Given the description of an element on the screen output the (x, y) to click on. 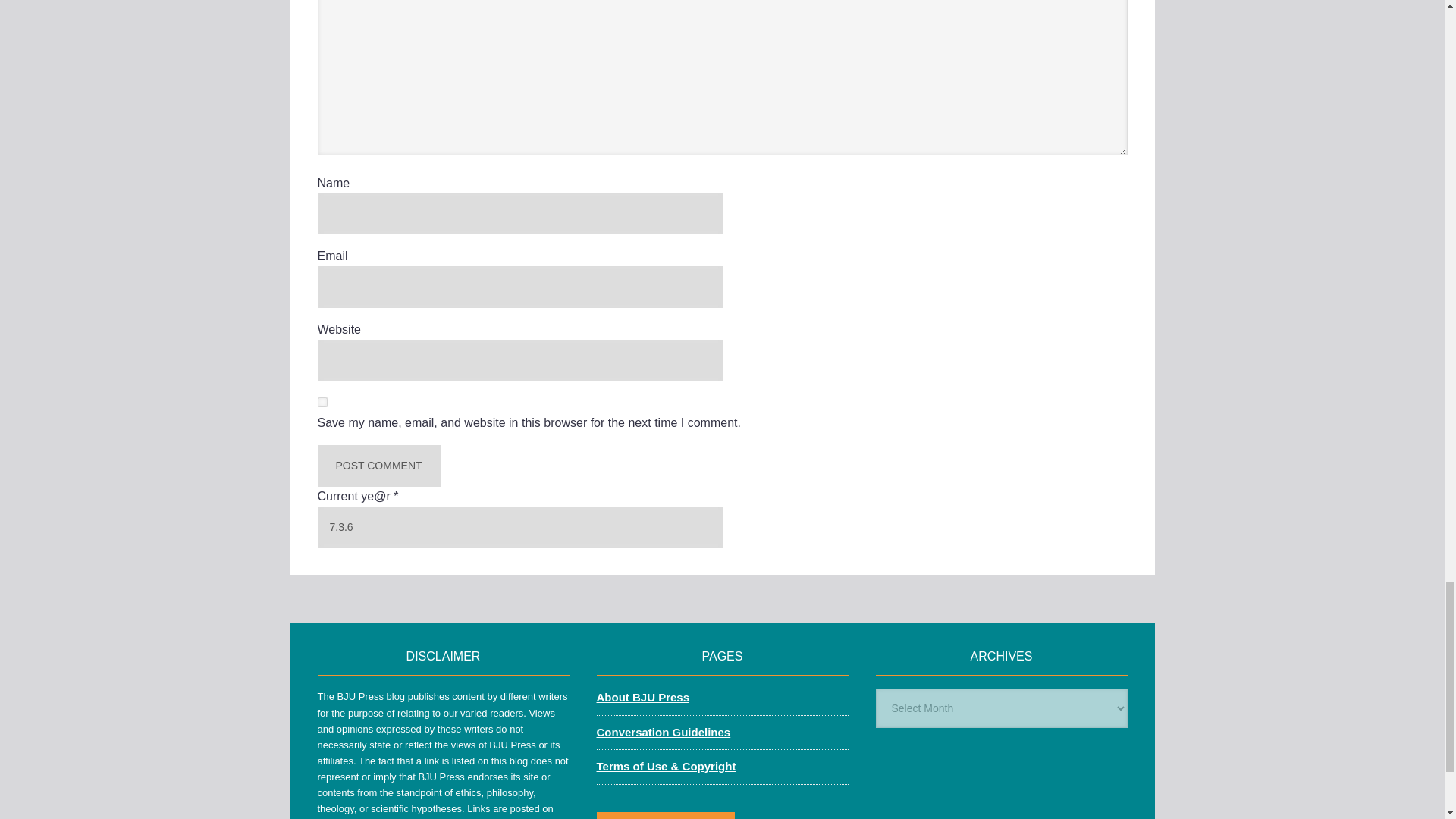
yes (321, 402)
Post Comment (378, 465)
7.3.6 (519, 526)
